Given the description of an element on the screen output the (x, y) to click on. 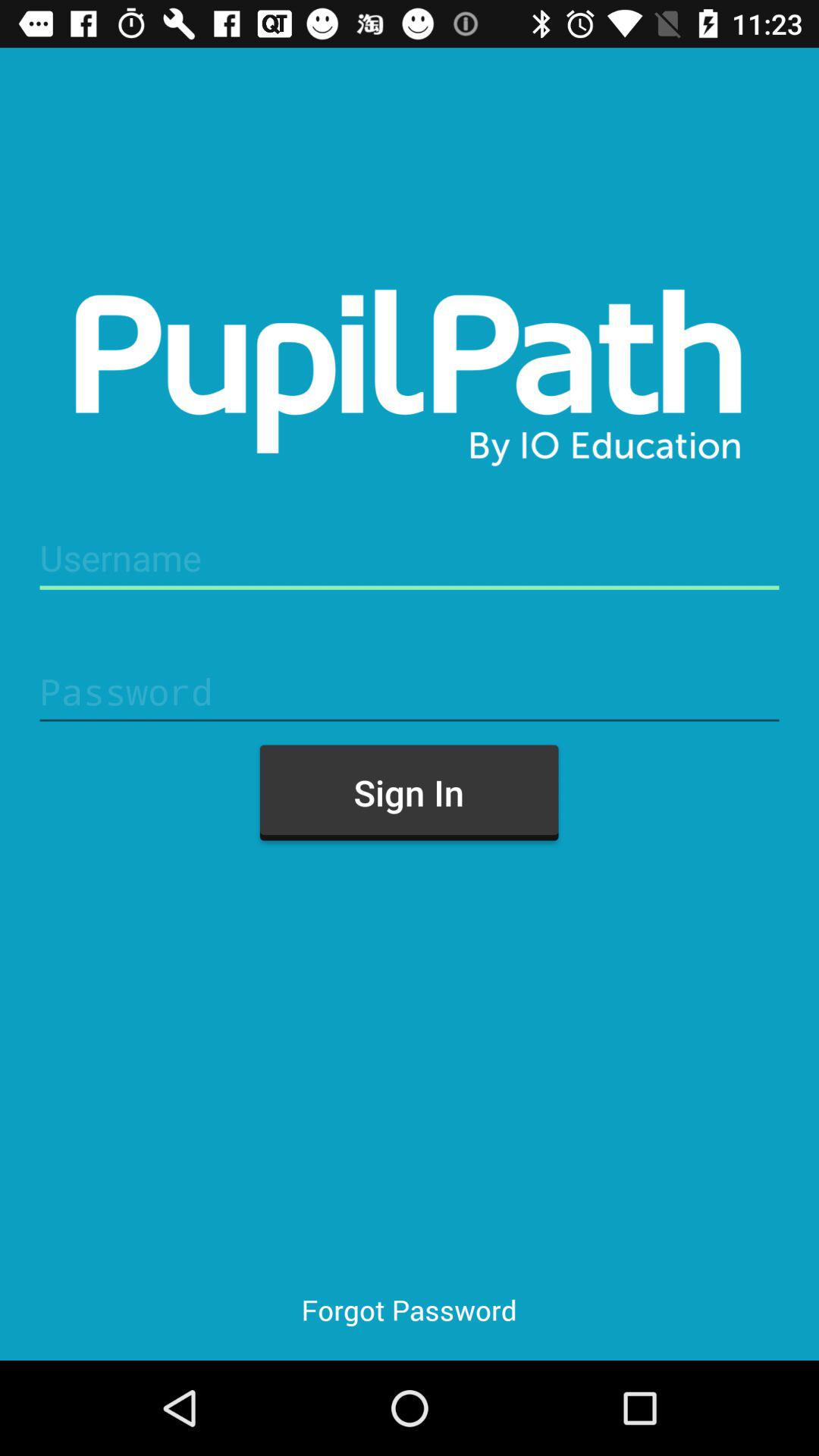
press the item above forgot password icon (408, 792)
